Given the description of an element on the screen output the (x, y) to click on. 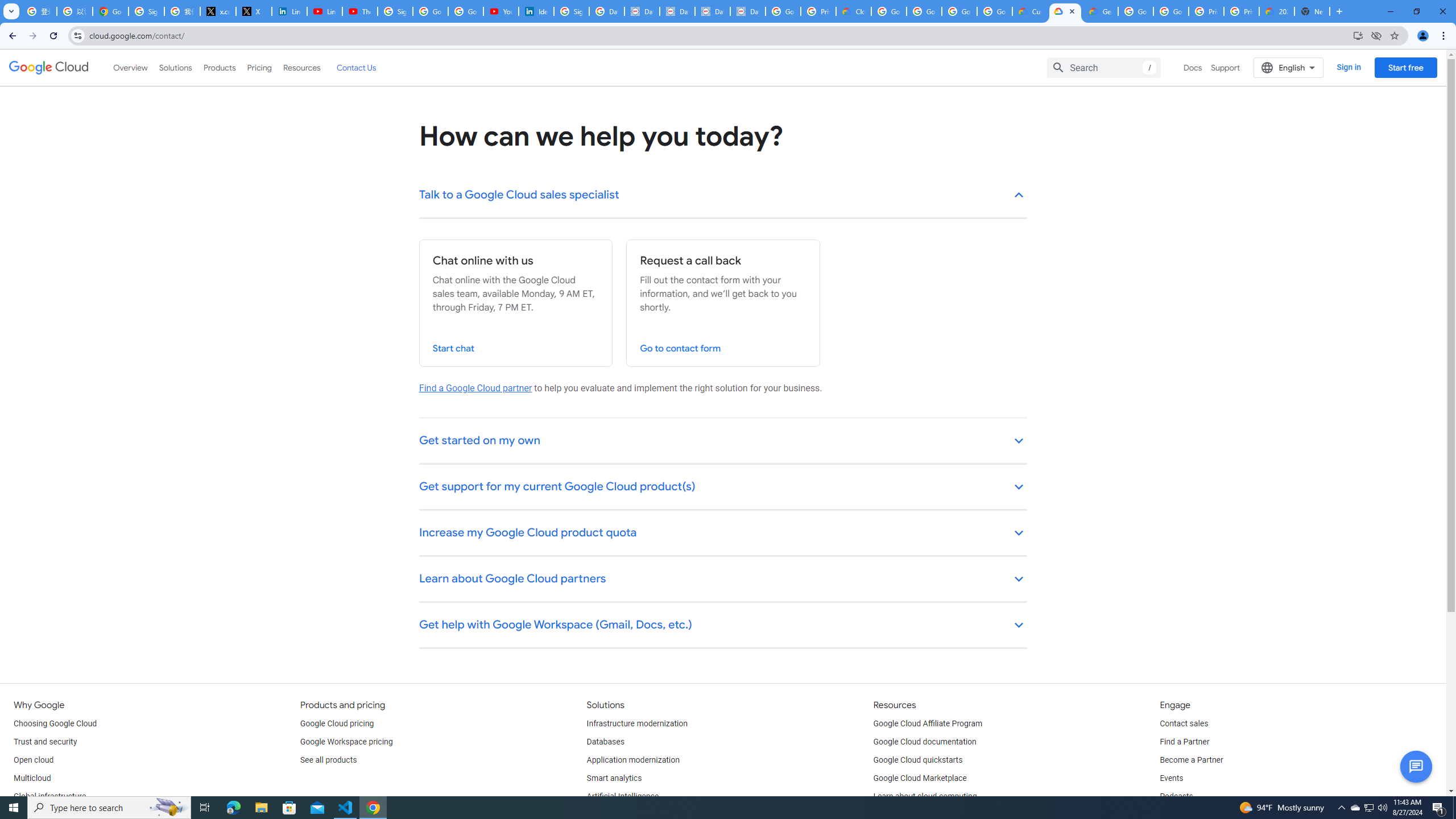
Events (1170, 778)
Pricing (259, 67)
Sign in - Google Accounts (394, 11)
LinkedIn Privacy Policy (288, 11)
See all products (327, 760)
